Given the description of an element on the screen output the (x, y) to click on. 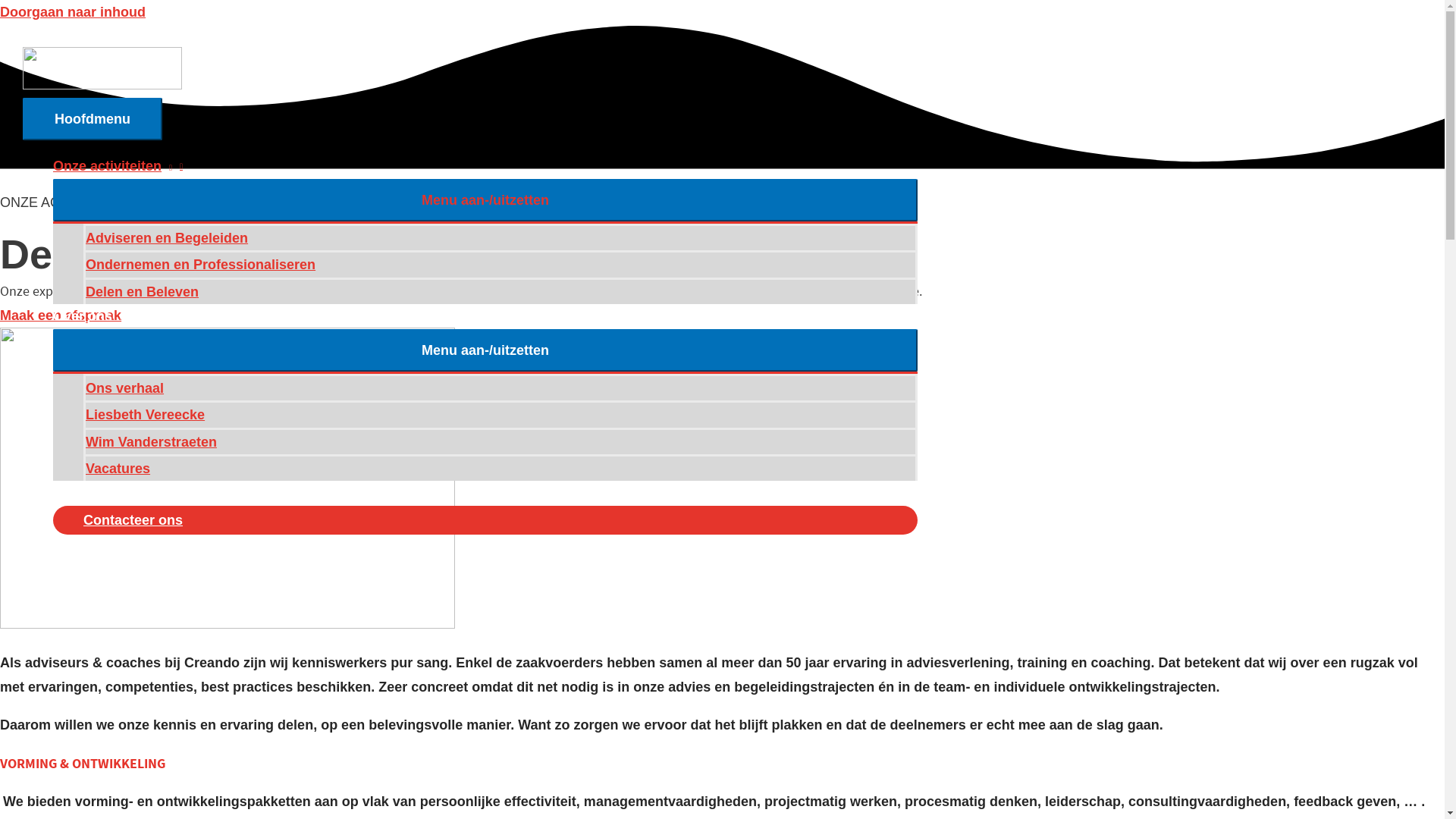
Contacteer ons Element type: text (485, 519)
Adviseren en Begeleiden Element type: text (500, 236)
Wim Vanderstraeten Element type: text (500, 440)
Hoofdmenu Element type: text (92, 118)
Menu aan-/uitzetten Element type: text (485, 199)
Menu aan-/uitzetten Element type: text (485, 350)
Doorgaan naar inhoud Element type: text (72, 11)
Over ons Element type: text (485, 316)
Onze activiteiten Element type: text (485, 165)
Ons verhaal Element type: text (500, 386)
Ondernemen en Professionaliseren Element type: text (500, 263)
Liesbeth Vereecke Element type: text (500, 413)
Delen en Beleven Element type: text (500, 290)
Vacatures Element type: text (500, 467)
Blog Creando Element type: text (485, 492)
Maak een afspraak Element type: text (60, 315)
